Given the description of an element on the screen output the (x, y) to click on. 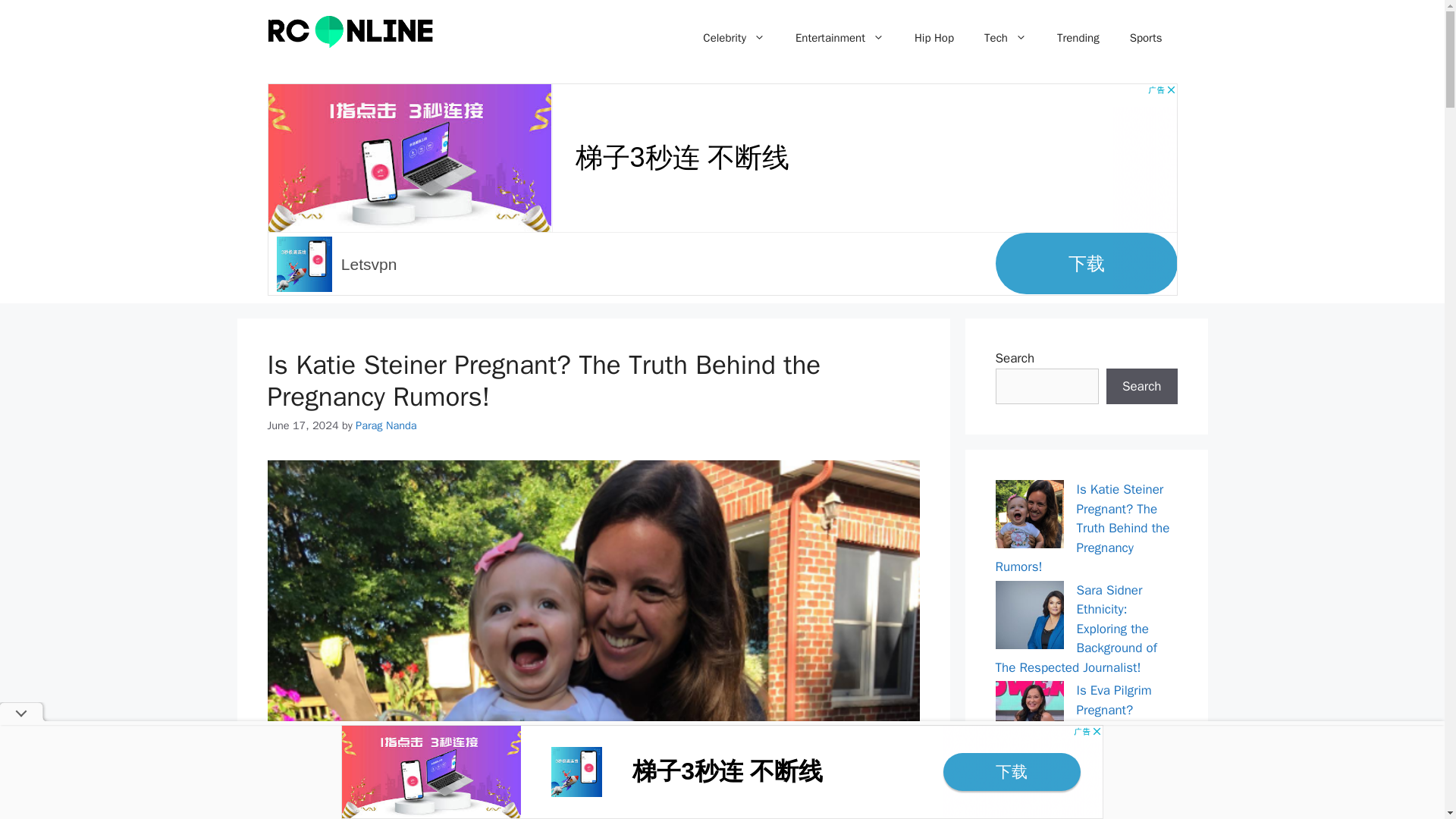
Hip Hop (934, 37)
Tech (1005, 37)
Celebrity (733, 37)
Trending (1078, 37)
Sports (1146, 37)
Entertainment (839, 37)
Parag Nanda (385, 425)
View all posts by Parag Nanda (385, 425)
